Given the description of an element on the screen output the (x, y) to click on. 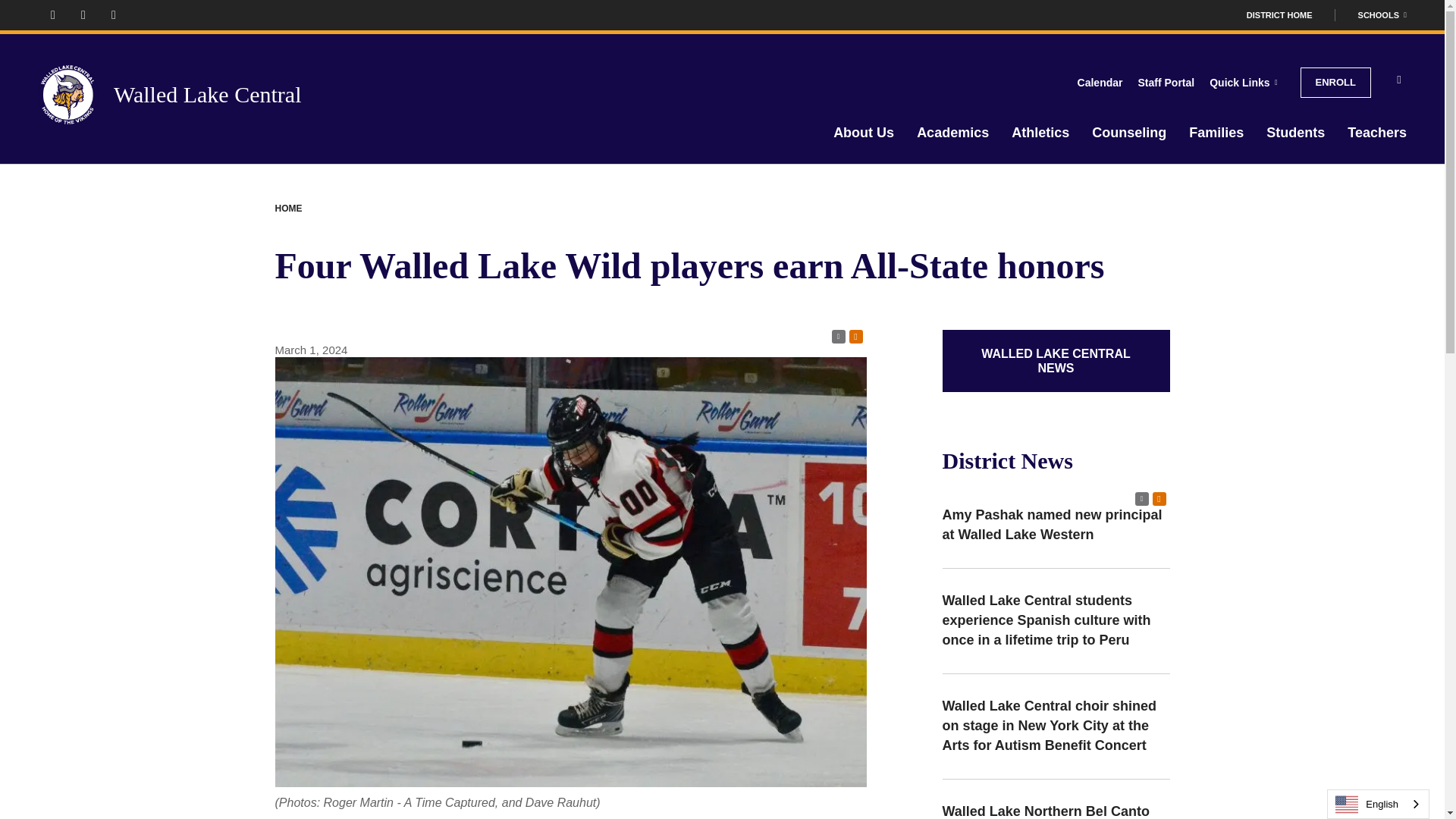
RSS (837, 336)
Alerts (855, 336)
Alerts (1159, 499)
RSS (1141, 499)
